Given the description of an element on the screen output the (x, y) to click on. 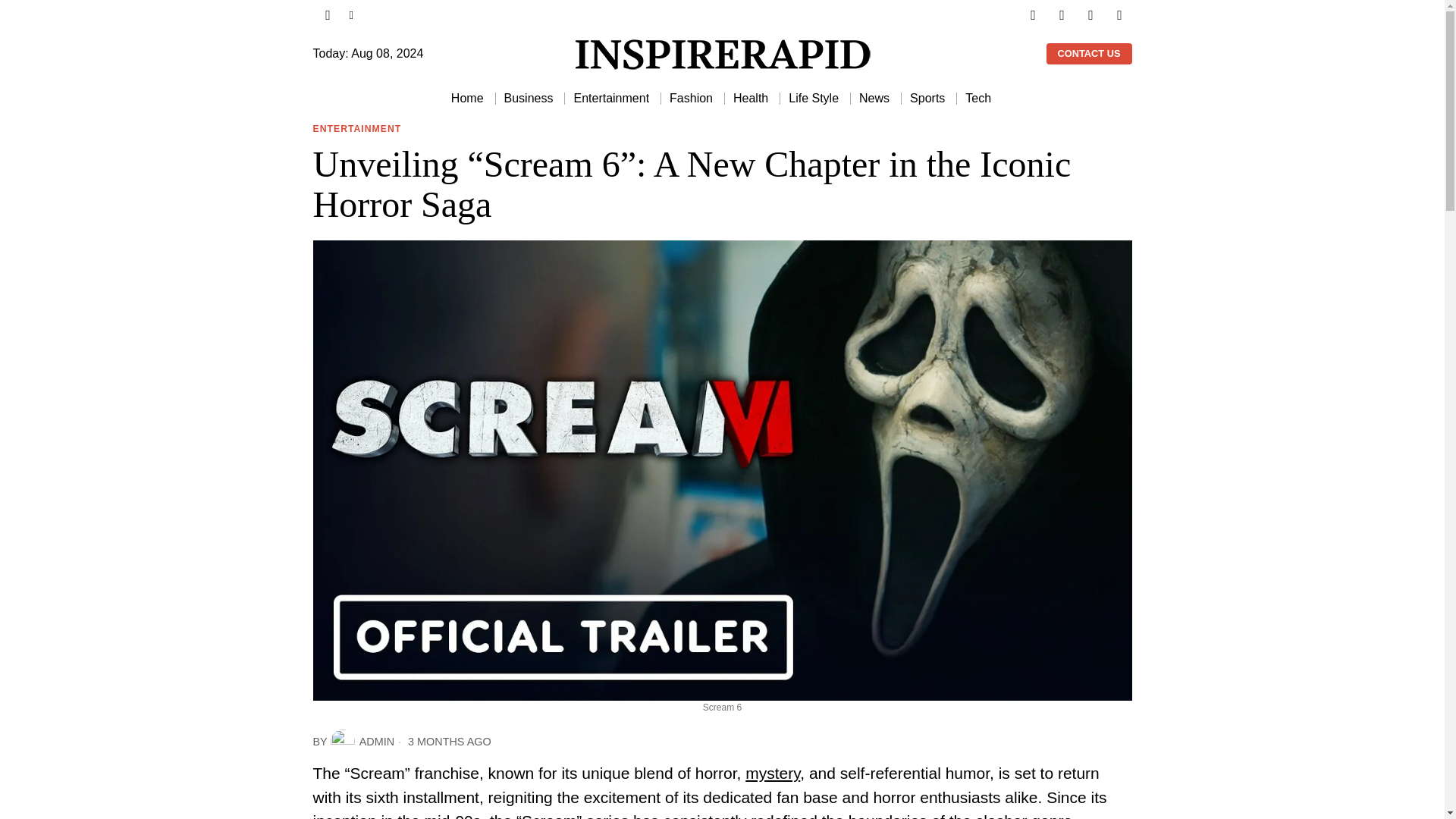
CONTACT US (1089, 53)
Entertainment (612, 98)
mystery (772, 773)
Fashion (692, 98)
ADMIN (362, 741)
Life Style (814, 98)
Business (529, 98)
Home (468, 98)
Sports (928, 98)
20 May, 2024 21:04:28 (443, 741)
